Given the description of an element on the screen output the (x, y) to click on. 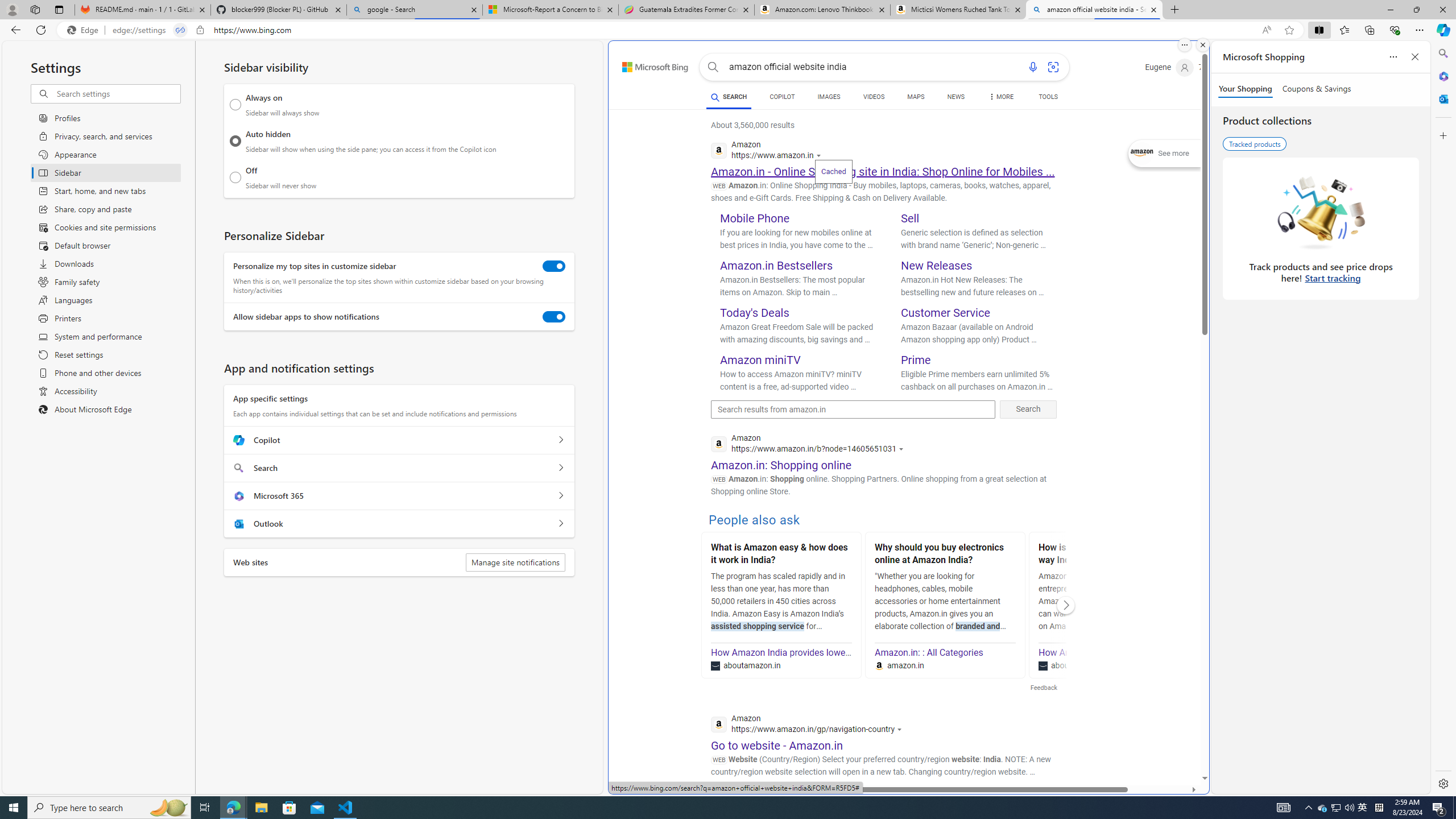
Search button (713, 66)
Refresh (40, 29)
Outlook (1442, 98)
How is Amazon easy changing the way India buys? (1108, 555)
COPILOT (781, 96)
Amazon.in Bestsellers (776, 265)
New Releases (936, 265)
Back (13, 29)
